Given the description of an element on the screen output the (x, y) to click on. 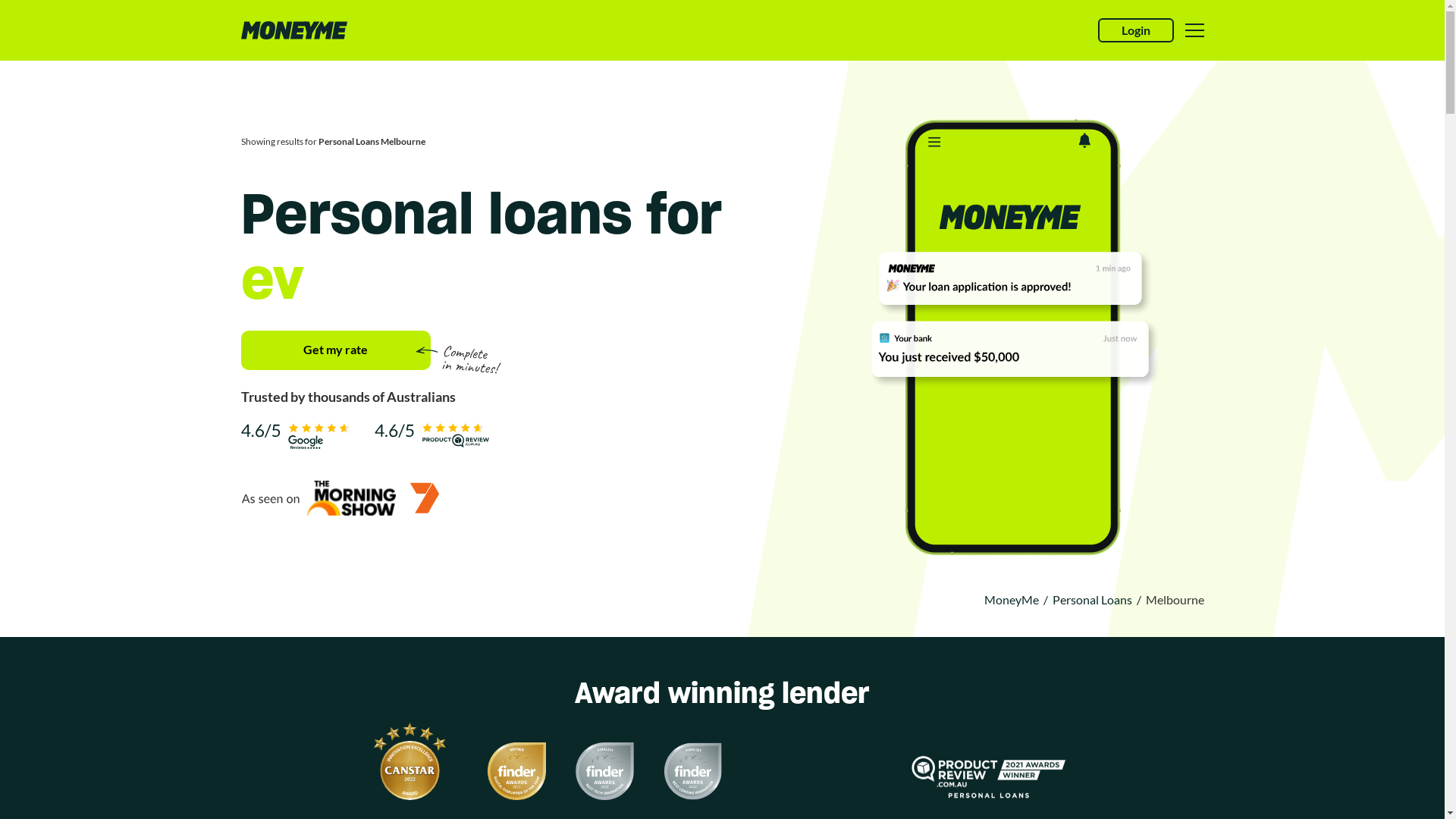
Personal Loans Element type: text (1092, 599)
Get my rate Element type: text (335, 350)
Login Element type: text (1135, 30)
MoneyMe Element type: text (1011, 599)
